Given the description of an element on the screen output the (x, y) to click on. 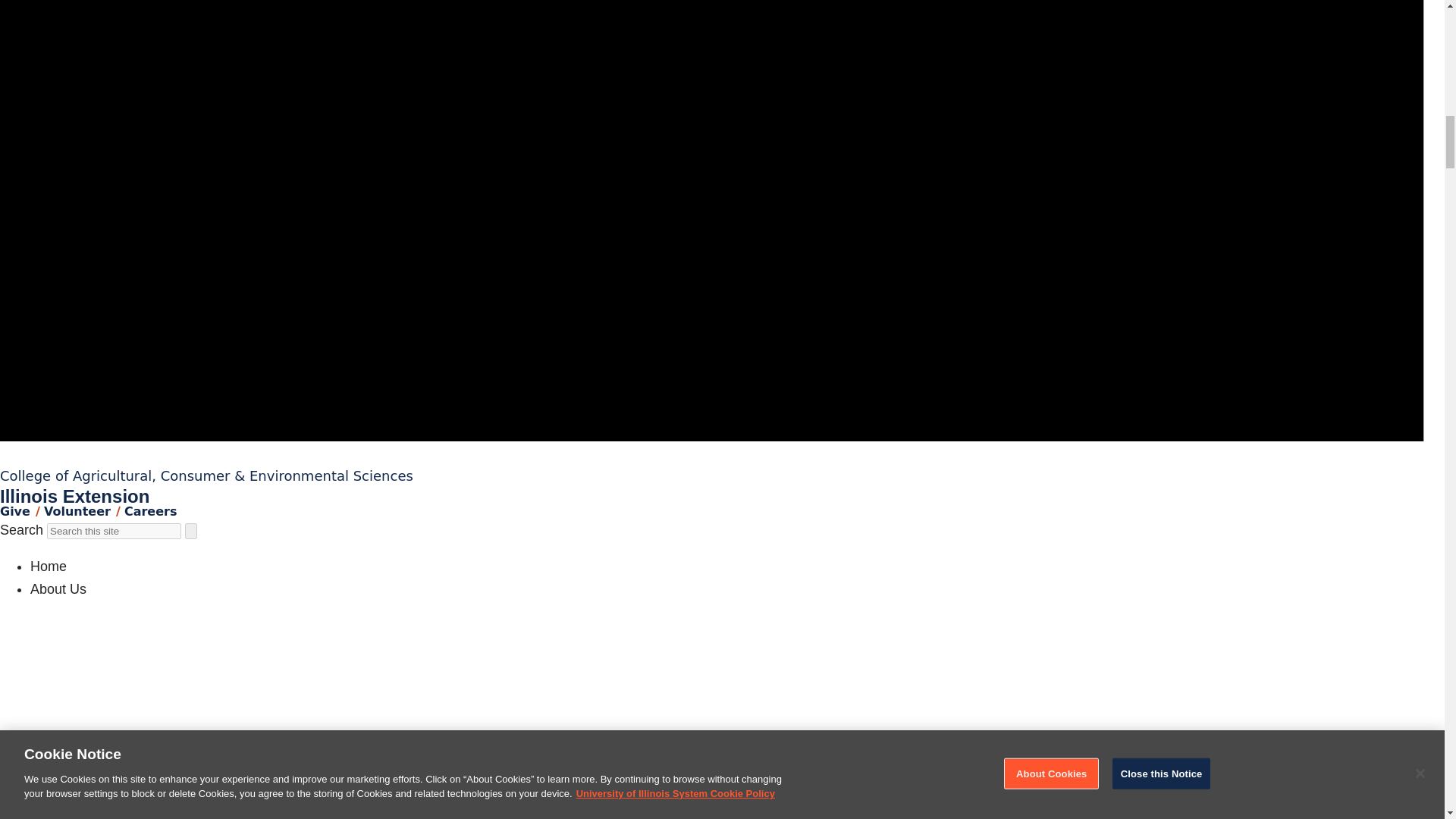
Volunteer (76, 511)
Illinois Extension (74, 496)
About Us (57, 589)
Careers (150, 511)
Give (15, 511)
Home (48, 566)
